Given the description of an element on the screen output the (x, y) to click on. 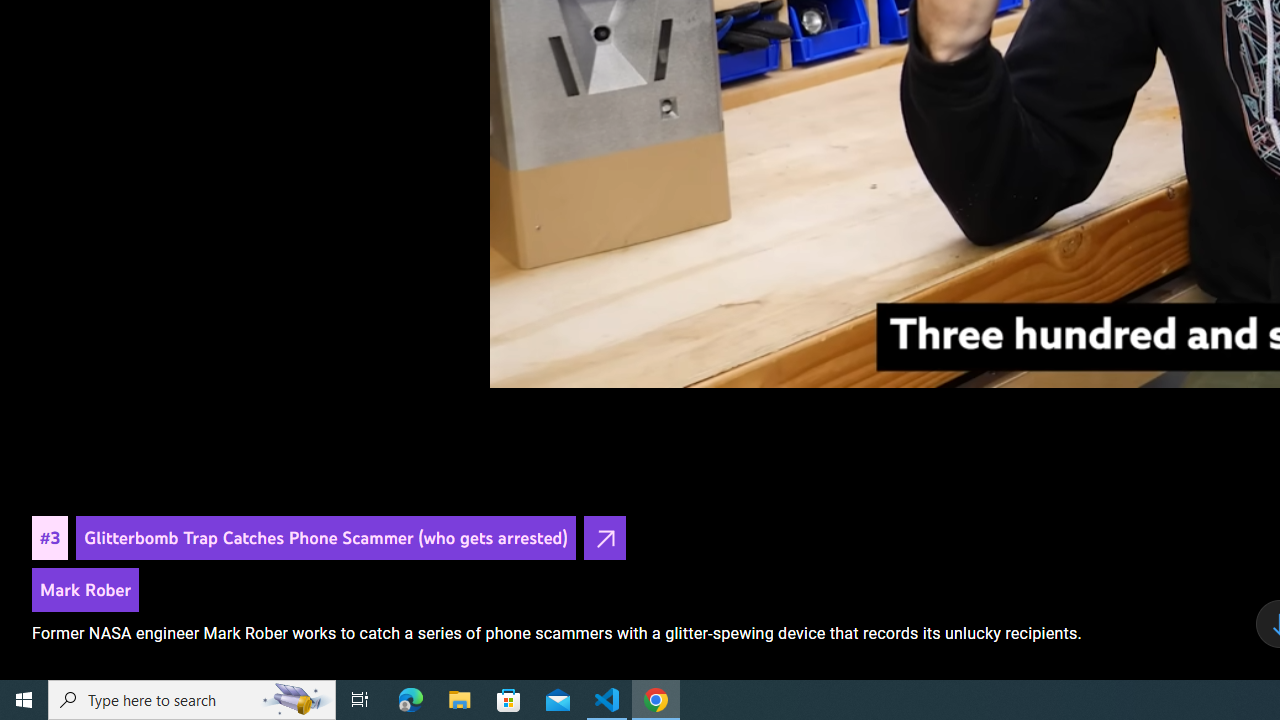
Open in YouTube (603, 538)
